Given the description of an element on the screen output the (x, y) to click on. 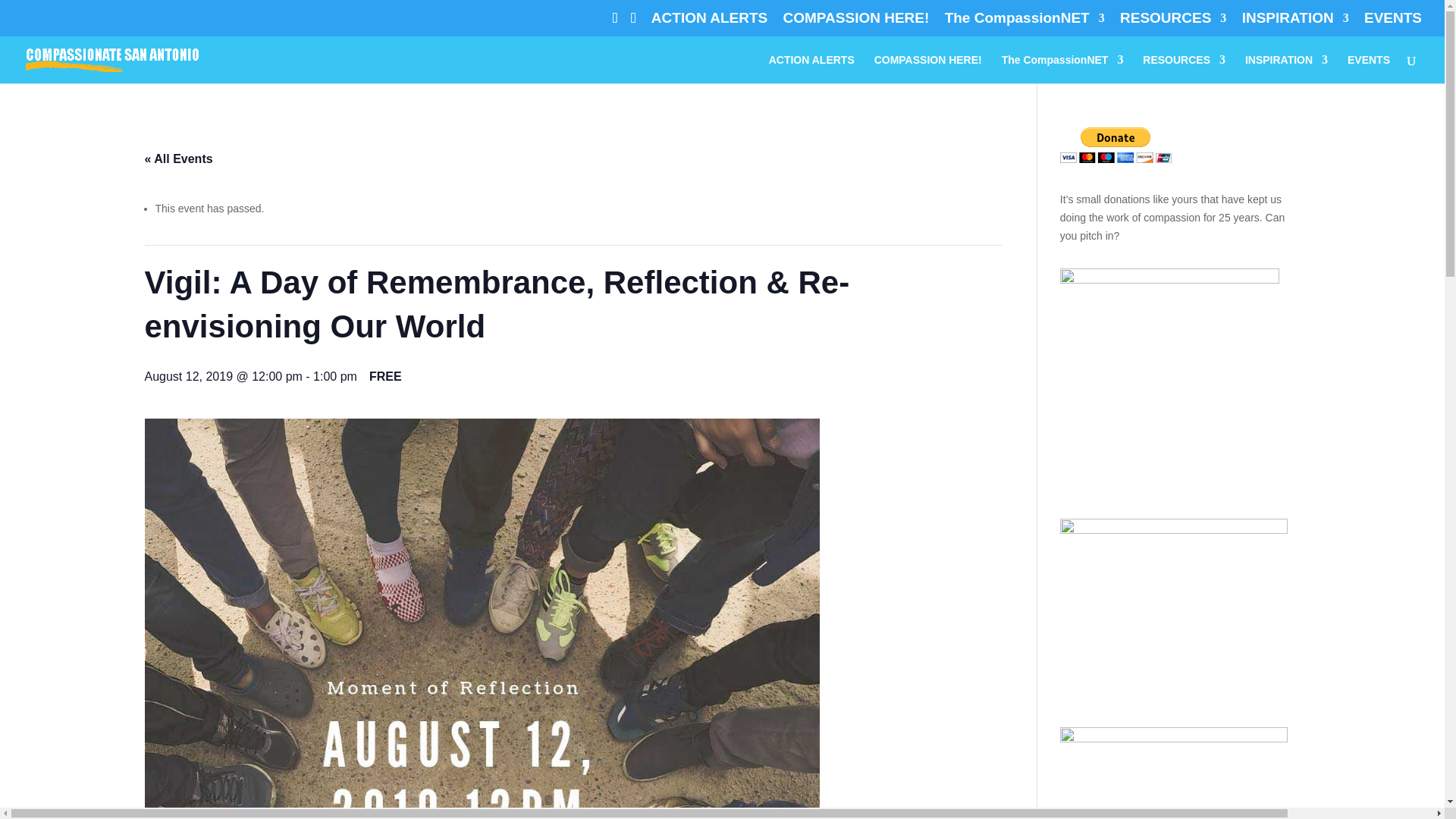
EVENTS (1393, 23)
RESOURCES (1172, 23)
The CompassionNET (1024, 23)
PayPal - The safer, easier way to pay online! (1115, 144)
ACTION ALERTS (708, 23)
COMPASSION HERE! (856, 23)
INSPIRATION (1295, 23)
